Given the description of an element on the screen output the (x, y) to click on. 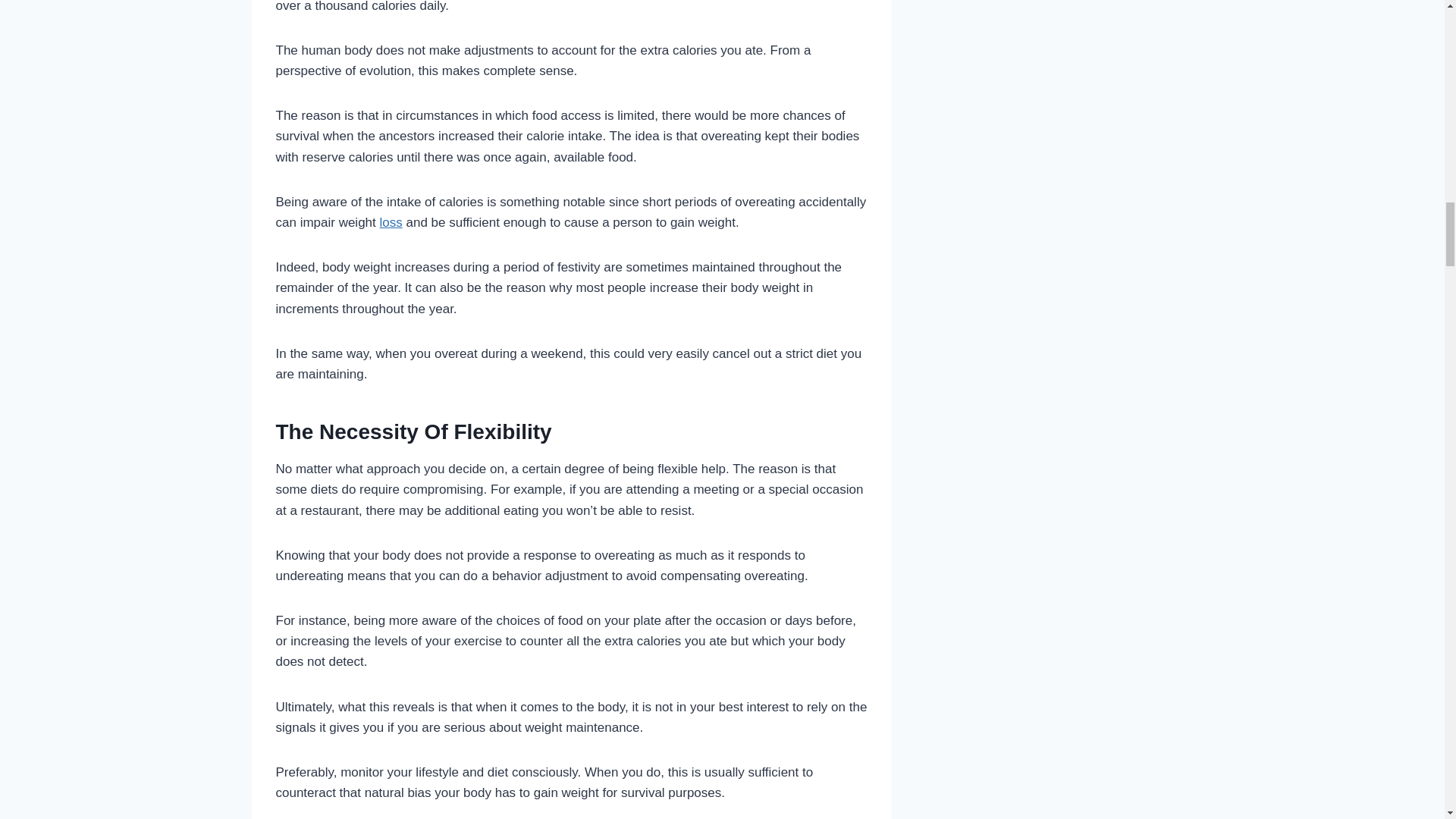
loss (391, 222)
